Given the description of an element on the screen output the (x, y) to click on. 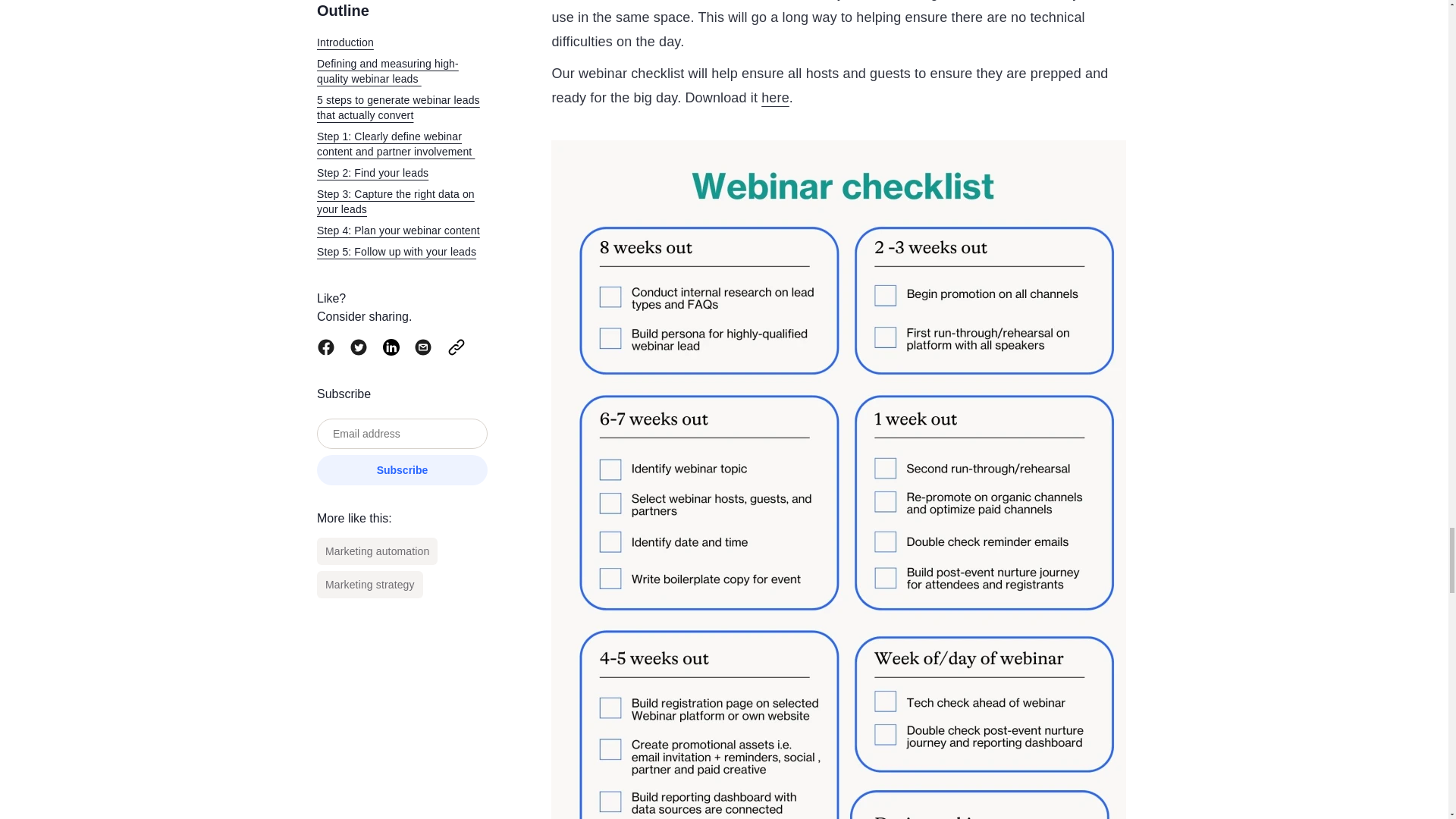
here (775, 97)
